Given the description of an element on the screen output the (x, y) to click on. 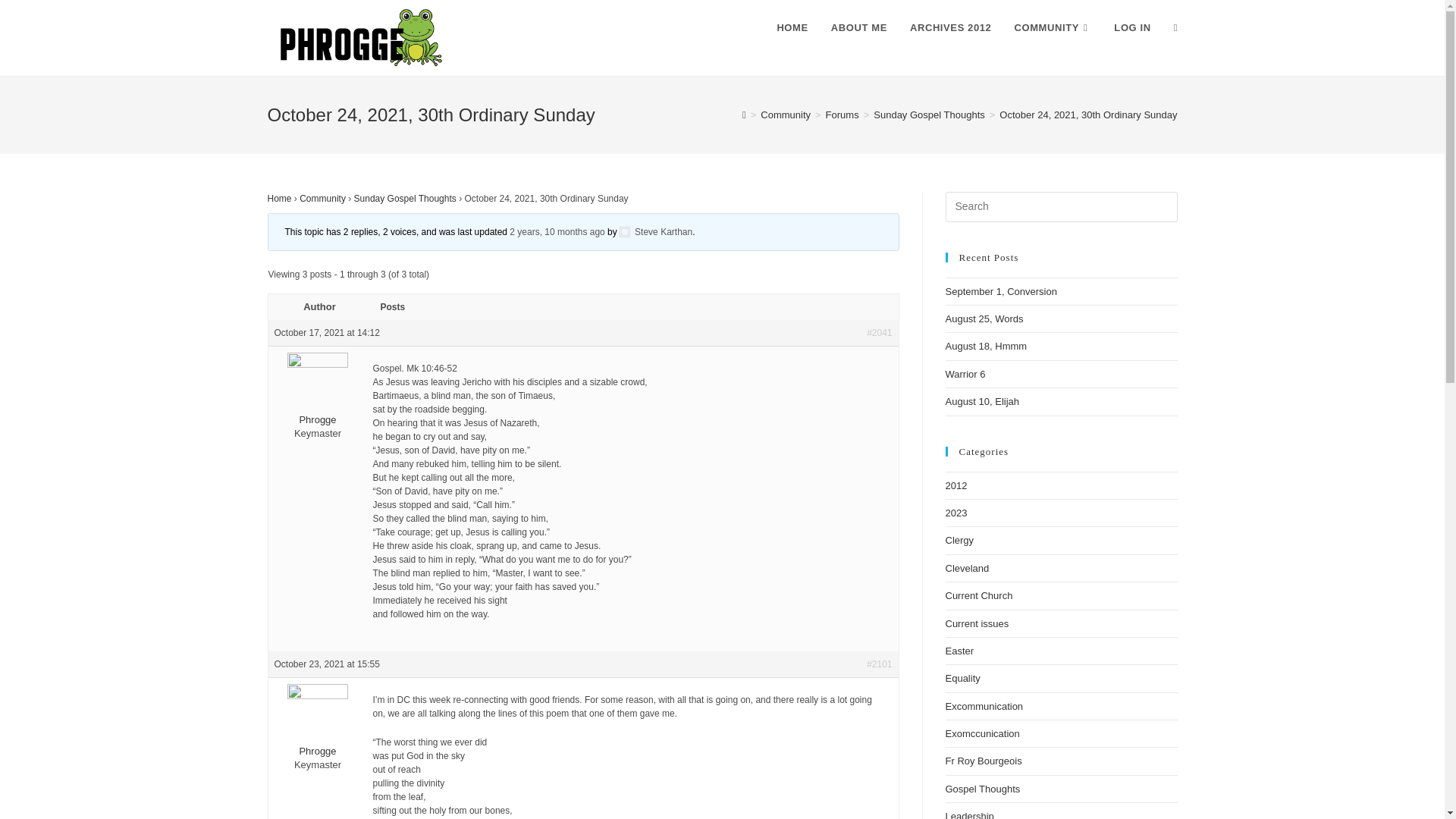
Sunday Gospel Thoughts (405, 198)
Sunday Gospel Thoughts (928, 114)
Reply To: October 24, 2021, 30th Ordinary Sunday (556, 231)
COMMUNITY (1052, 28)
View Phrogge's profile (318, 401)
Community (322, 198)
View Phrogge's profile (318, 733)
Phrogge (318, 733)
October 24, 2021, 30th Ordinary Sunday (1087, 114)
HOME (791, 28)
